Given the description of an element on the screen output the (x, y) to click on. 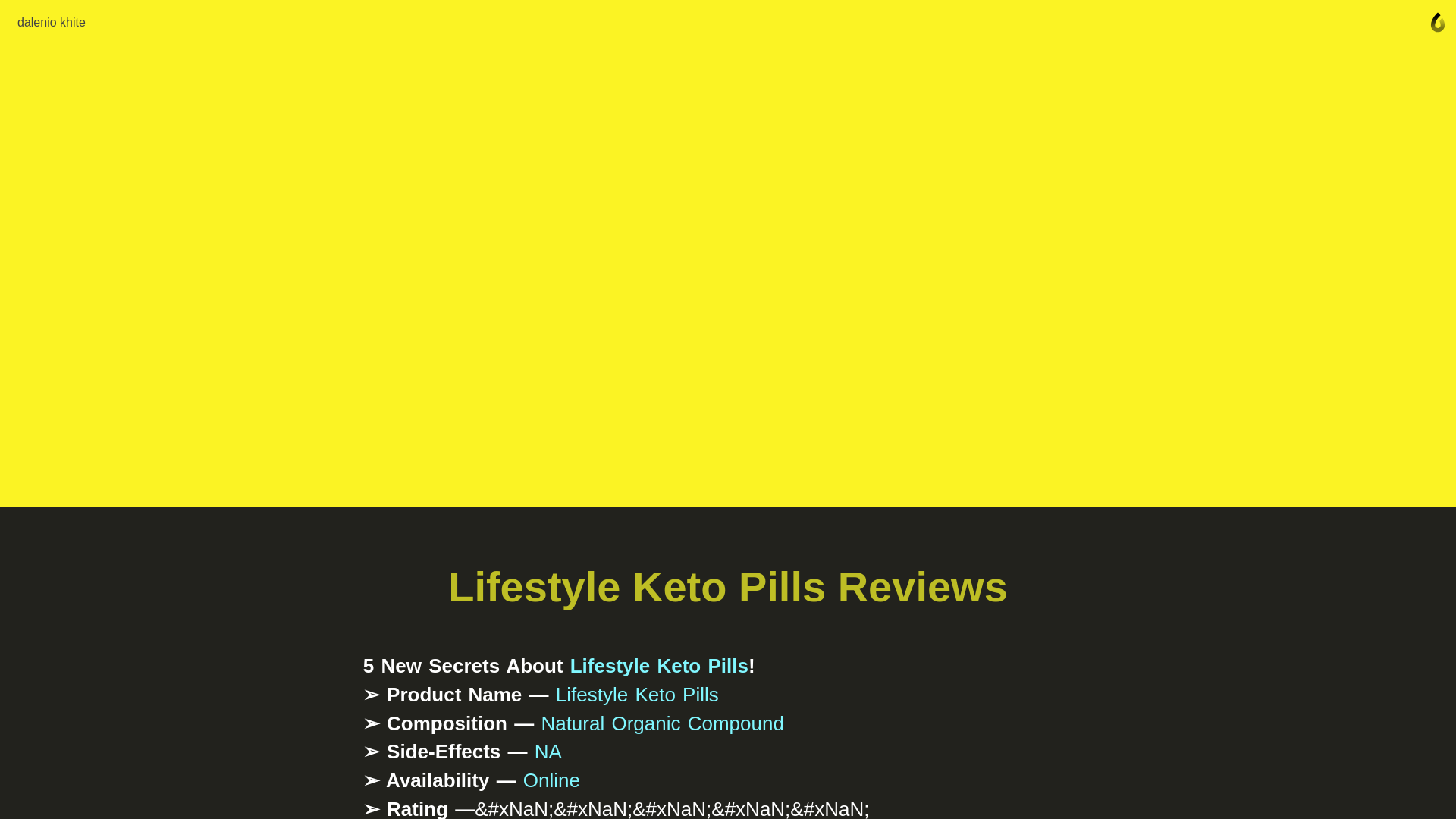
NA (548, 751)
Natural Organic Compound (662, 722)
dalenio khite (51, 22)
Lifestyle Keto Pills (637, 694)
Lifestyle Keto Pills (659, 665)
Online (550, 780)
